Given the description of an element on the screen output the (x, y) to click on. 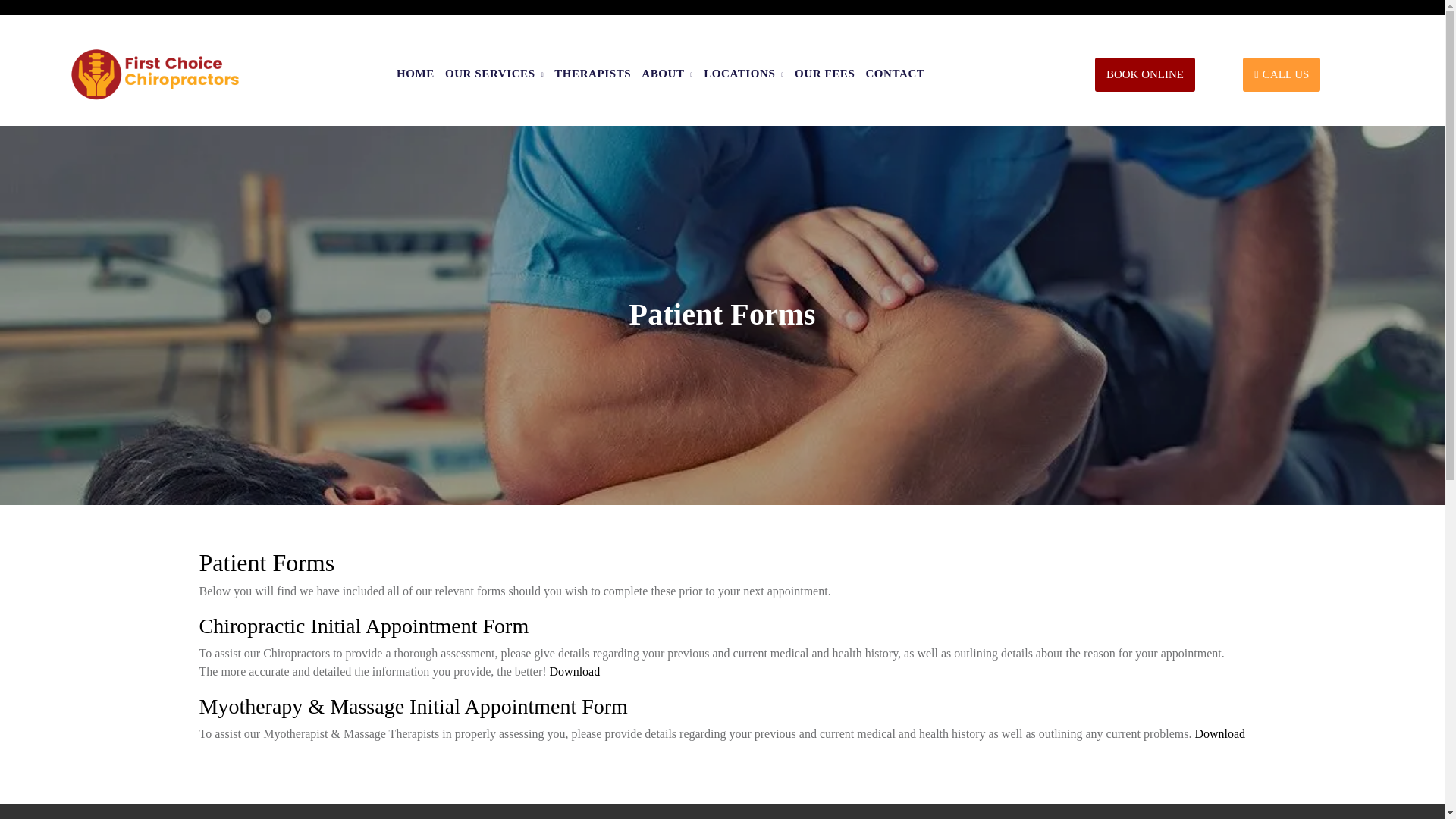
THERAPISTS (592, 73)
ABOUT (667, 73)
HOME (414, 73)
LOCATIONS (743, 73)
OUR SERVICES (494, 73)
